Given the description of an element on the screen output the (x, y) to click on. 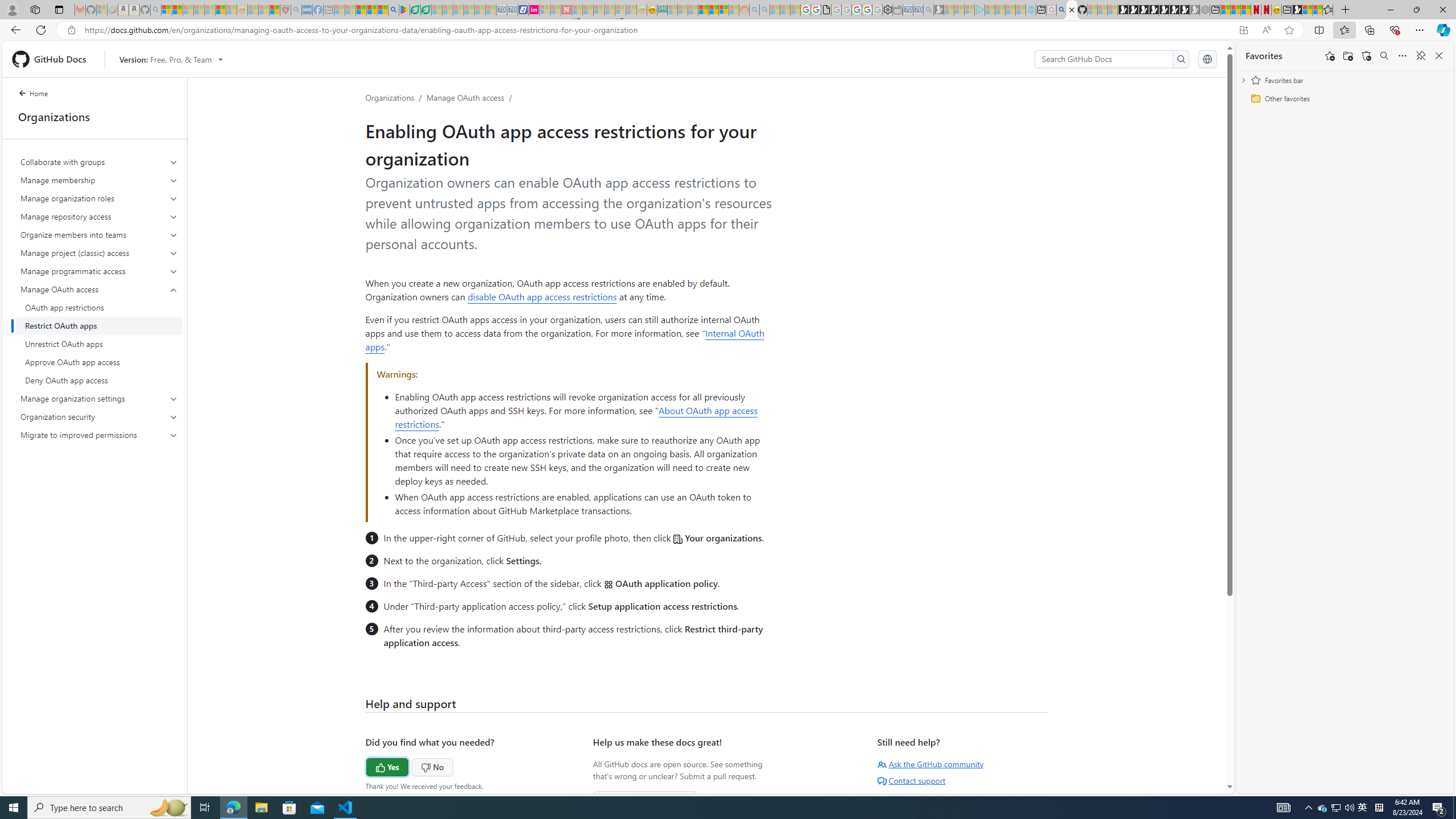
Yes (365, 765)
Manage OAuth access (99, 289)
Search GitHub Docs (1104, 58)
Make a contribution (644, 800)
Jobs - lastminute.com Investor Portal (534, 9)
Restrict OAuth apps (99, 325)
GitHub Docs (53, 58)
